Given the description of an element on the screen output the (x, y) to click on. 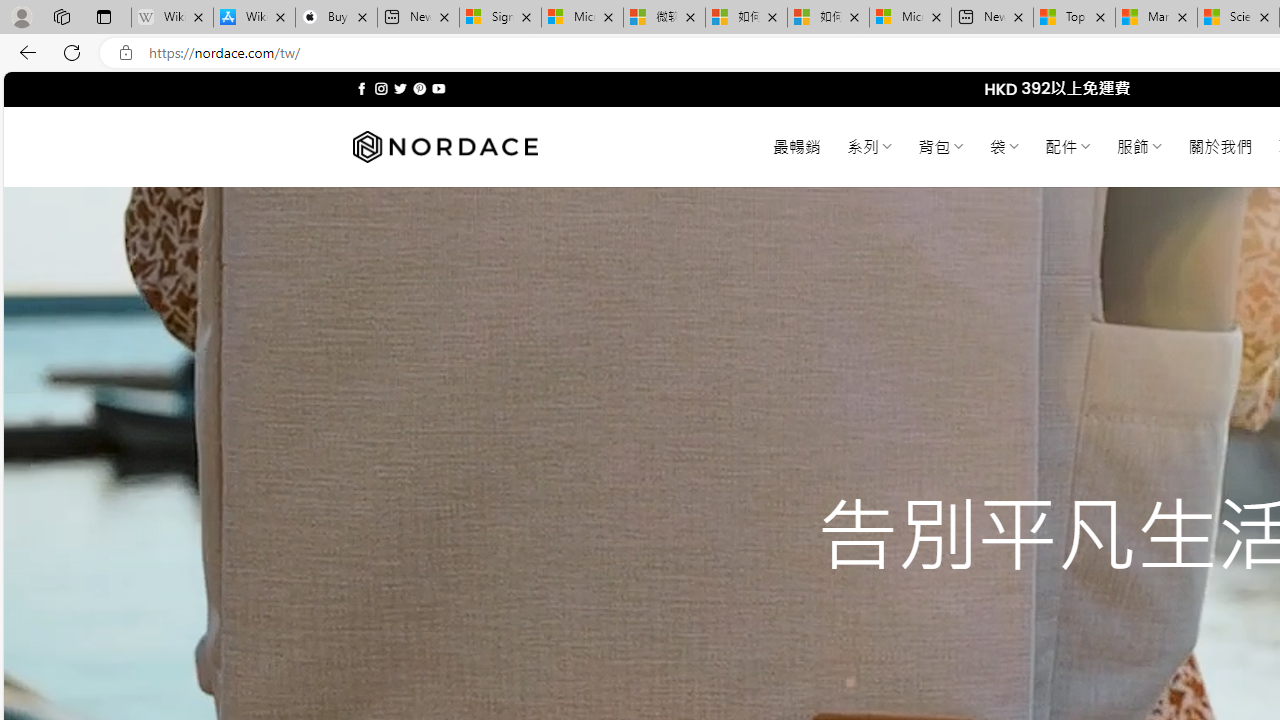
Top Stories - MSN (1074, 17)
Microsoft account | Account Checkup (910, 17)
Wikipedia - Sleeping (171, 17)
Follow on Pinterest (419, 88)
Microsoft Services Agreement (582, 17)
